Given the description of an element on the screen output the (x, y) to click on. 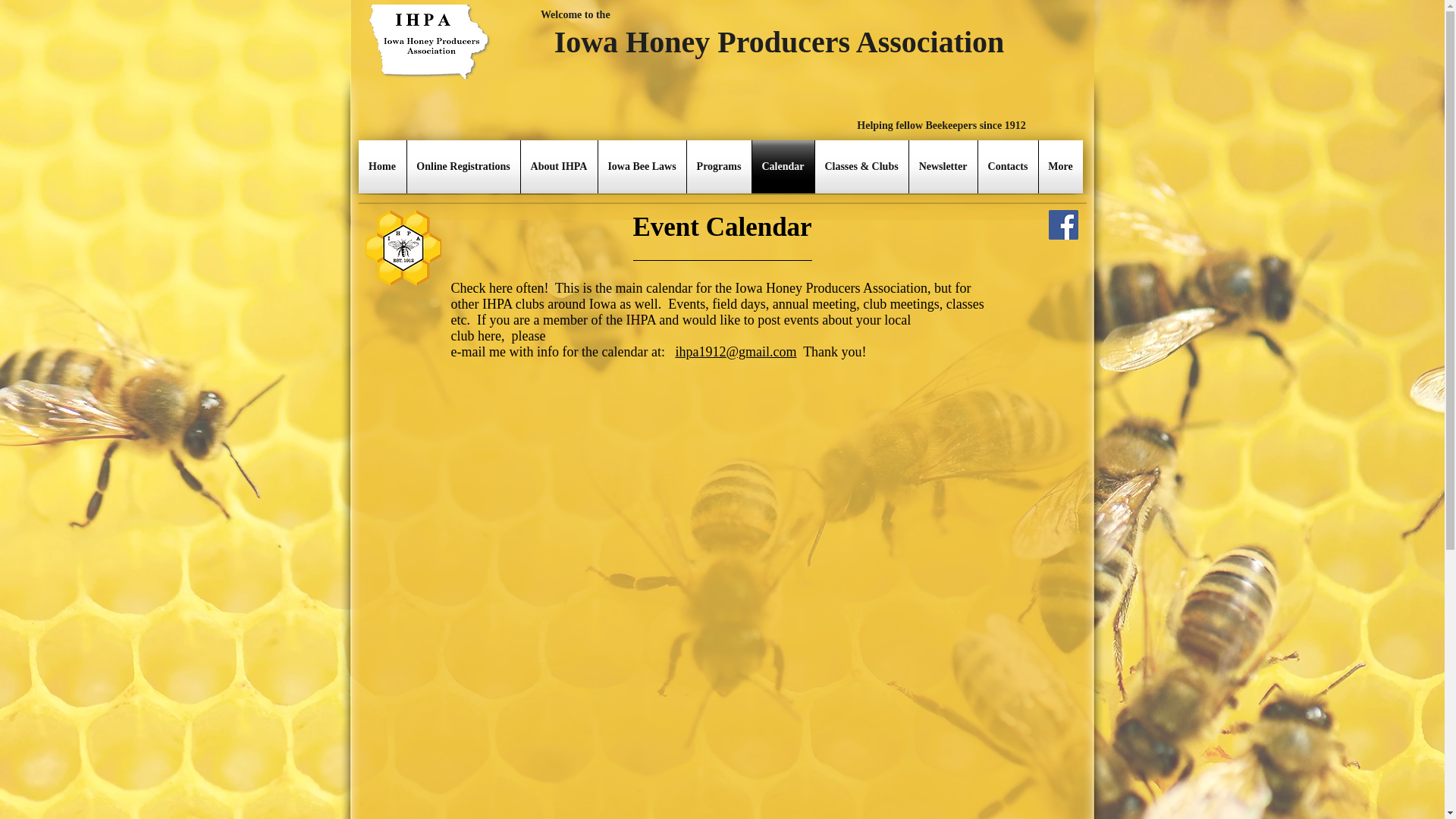
ihpa3.png (429, 41)
Newsletter (942, 166)
Online Registrations (462, 166)
  Thank you! (831, 351)
Iowa Bee Laws (640, 166)
Calendar (782, 166)
Home (382, 166)
